Given the description of an element on the screen output the (x, y) to click on. 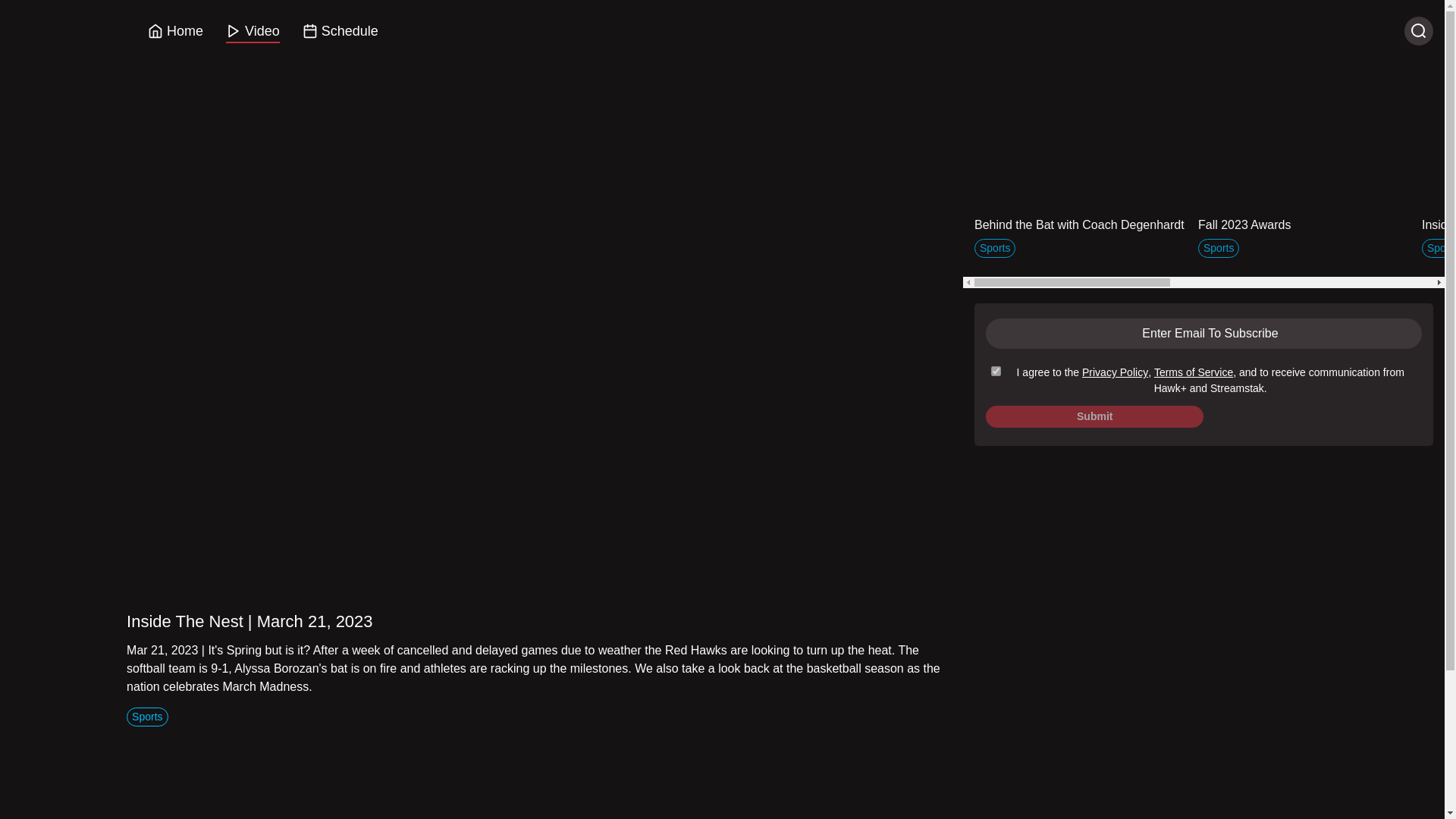
Sports (146, 716)
Video (252, 31)
Privacy Policy (1114, 372)
All Videos (1323, 75)
Schedule (340, 31)
Sports (146, 715)
Permanent Link to Fall 2023 Awards (1304, 191)
Submit (1094, 416)
Submit (1094, 416)
Terms of Service (1193, 372)
